Given the description of an element on the screen output the (x, y) to click on. 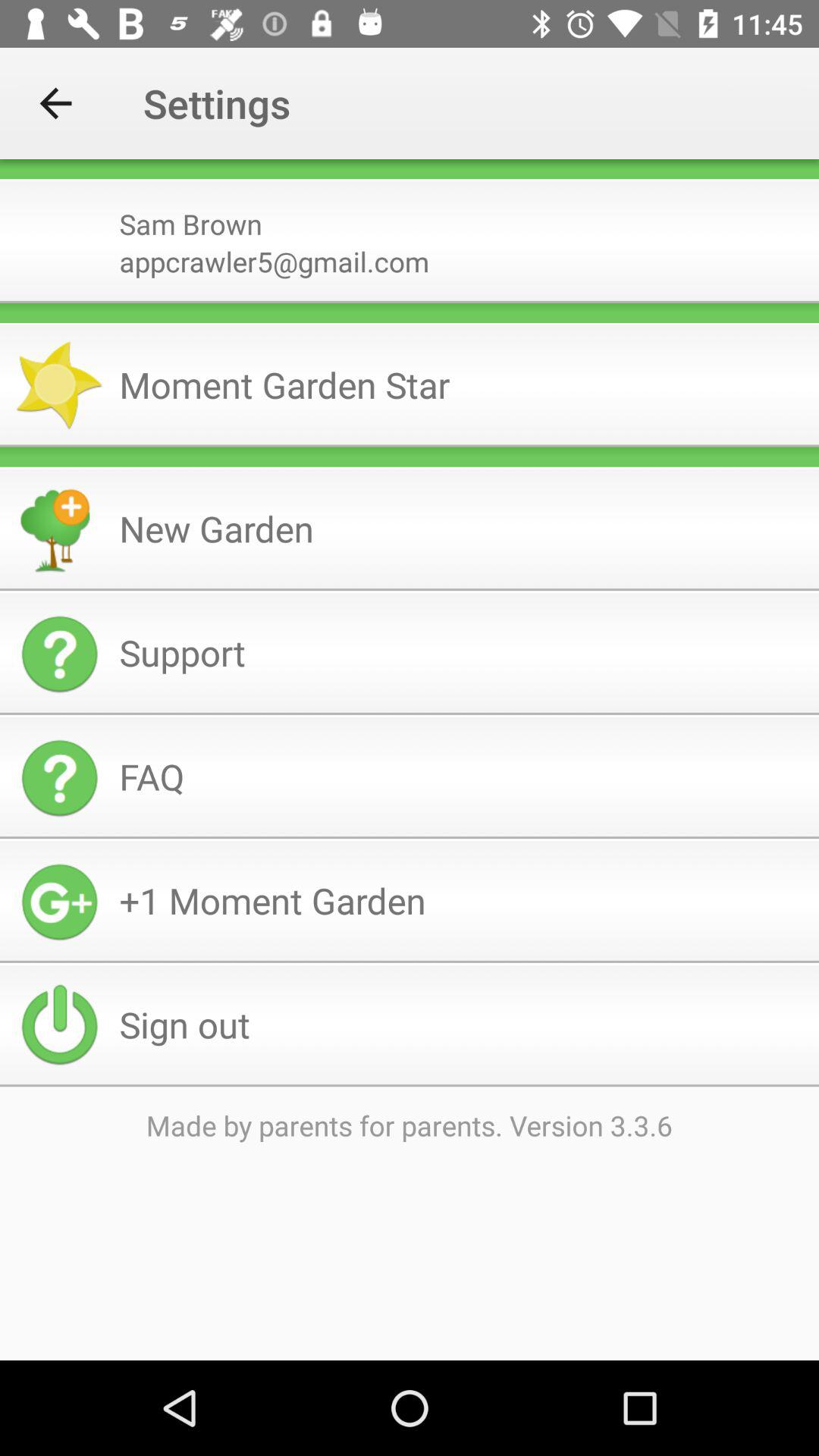
turn on the icon below the sam brown item (463, 261)
